Given the description of an element on the screen output the (x, y) to click on. 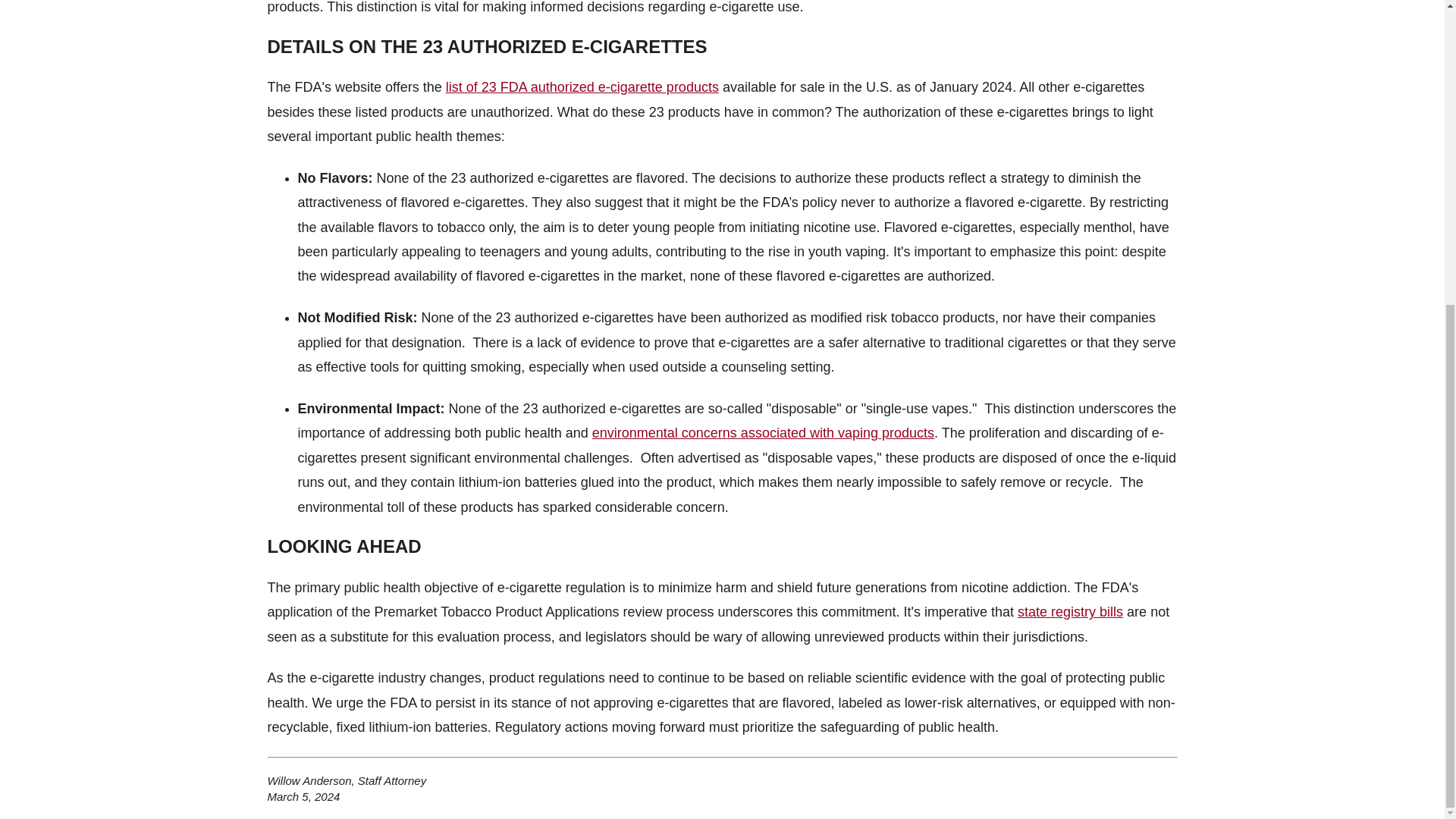
environmental concerns associated with vaping products (763, 432)
state registry bills (1069, 611)
list of 23 FDA authorized e-cigarette products (582, 87)
